Given the description of an element on the screen output the (x, y) to click on. 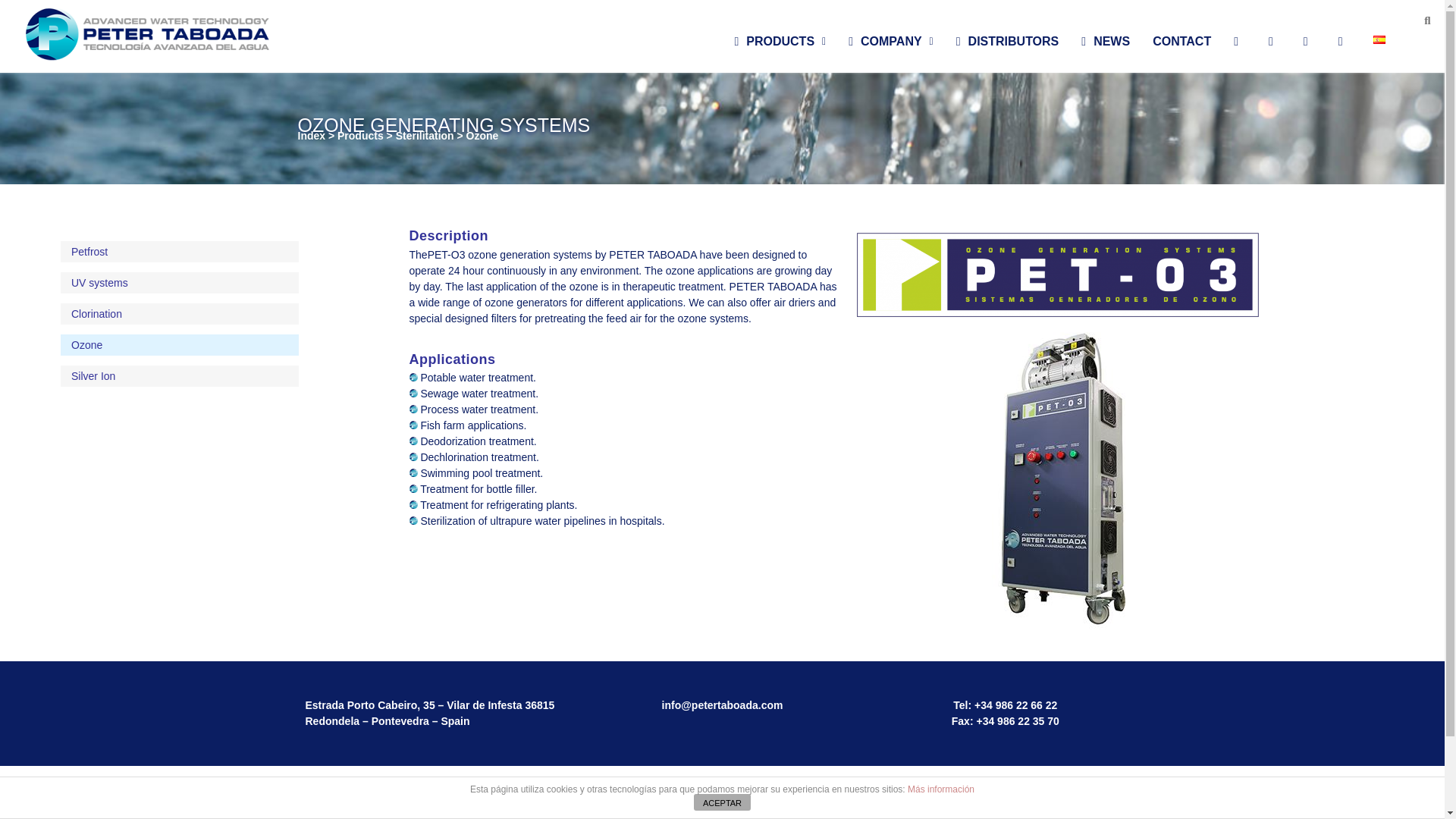
PRODUCTS (779, 41)
Search (1410, 20)
